Given the description of an element on the screen output the (x, y) to click on. 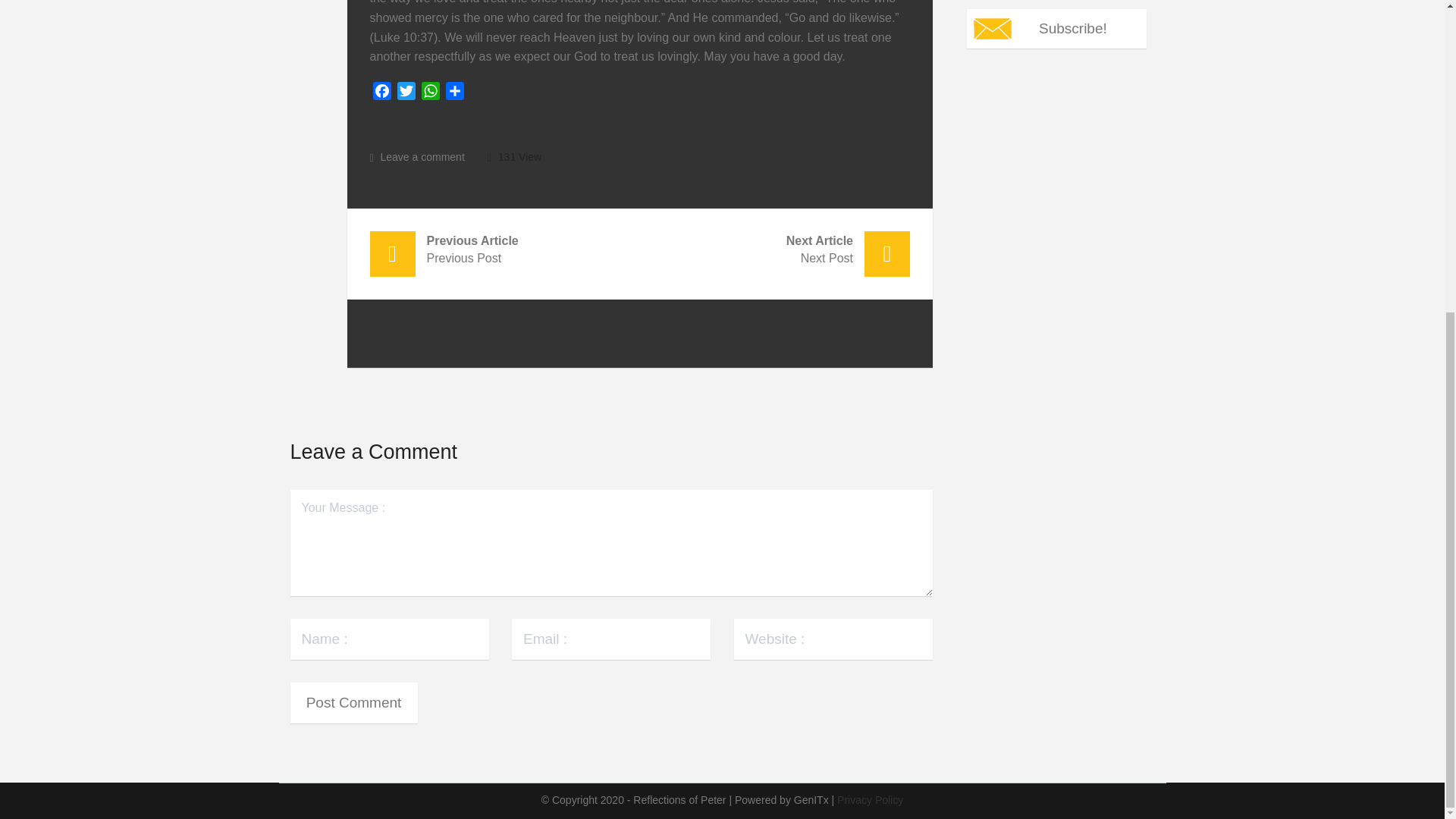
Facebook (381, 93)
Share (454, 93)
Post Comment (352, 702)
Twitter (504, 247)
Leave a comment (406, 93)
Subscribe!        (416, 156)
Post Comment (1056, 28)
WhatsApp (352, 702)
WhatsApp (430, 93)
Facebook (430, 93)
Twitter (381, 93)
Subscribe!        (406, 93)
Privacy Policy (775, 247)
